Given the description of an element on the screen output the (x, y) to click on. 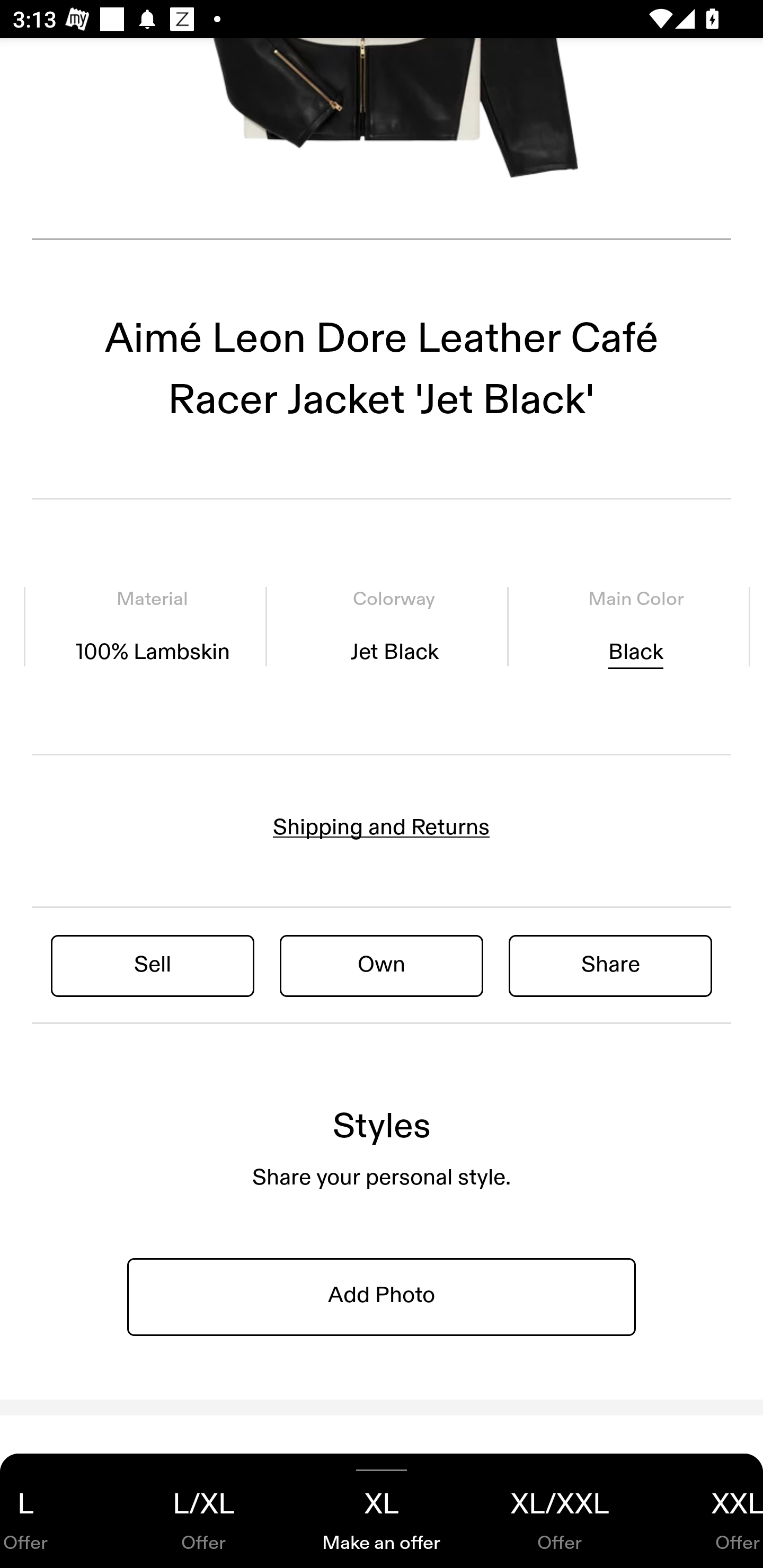
Material 100% Lambskin (152, 626)
Colorway Jet Black (394, 626)
Main Color Black (635, 626)
Shipping and Returns (381, 827)
Sell (152, 964)
Own (381, 964)
Share (609, 964)
Add Photo (381, 1295)
L Offer (57, 1510)
L/XL Offer (203, 1510)
XL Make an offer (381, 1510)
XL/XXL Offer (559, 1510)
XXL Offer (705, 1510)
